Given the description of an element on the screen output the (x, y) to click on. 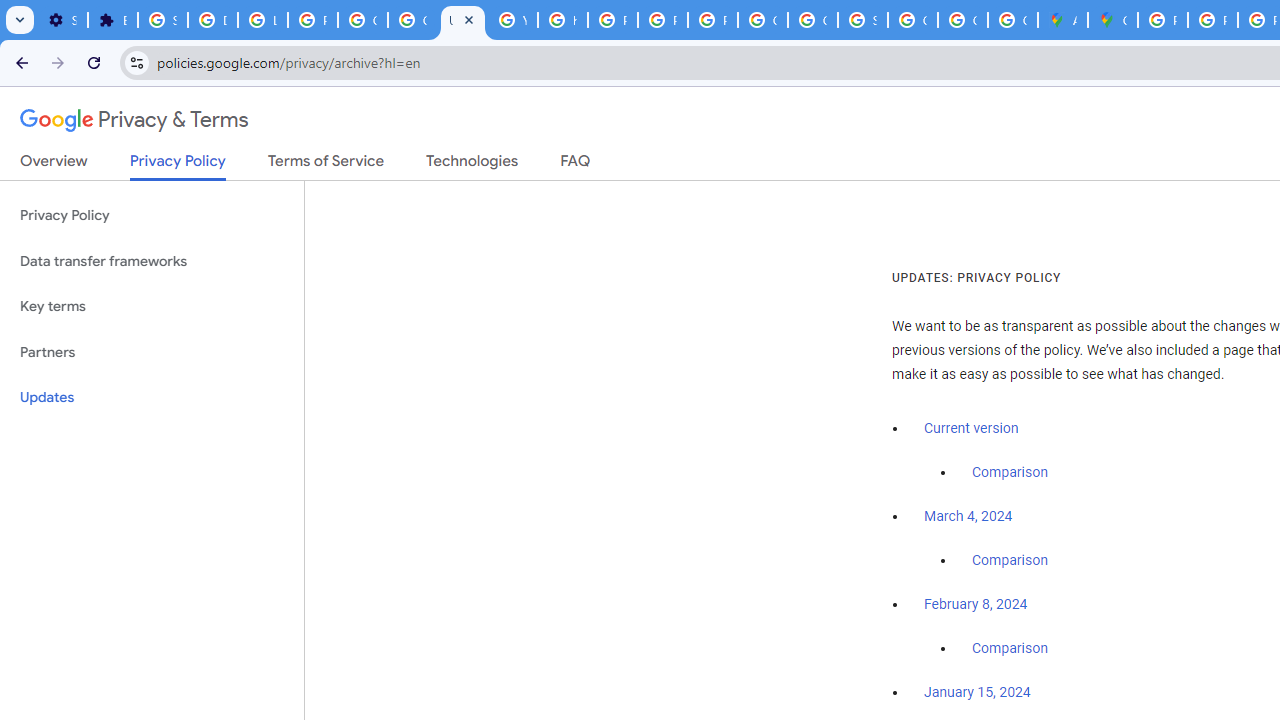
Sign in - Google Accounts (863, 20)
Google Account Help (362, 20)
January 15, 2024 (977, 693)
February 8, 2024 (975, 605)
Sign in - Google Accounts (163, 20)
Create your Google Account (1013, 20)
https://scholar.google.com/ (562, 20)
Settings - On startup (62, 20)
March 4, 2024 (968, 517)
